Given the description of an element on the screen output the (x, y) to click on. 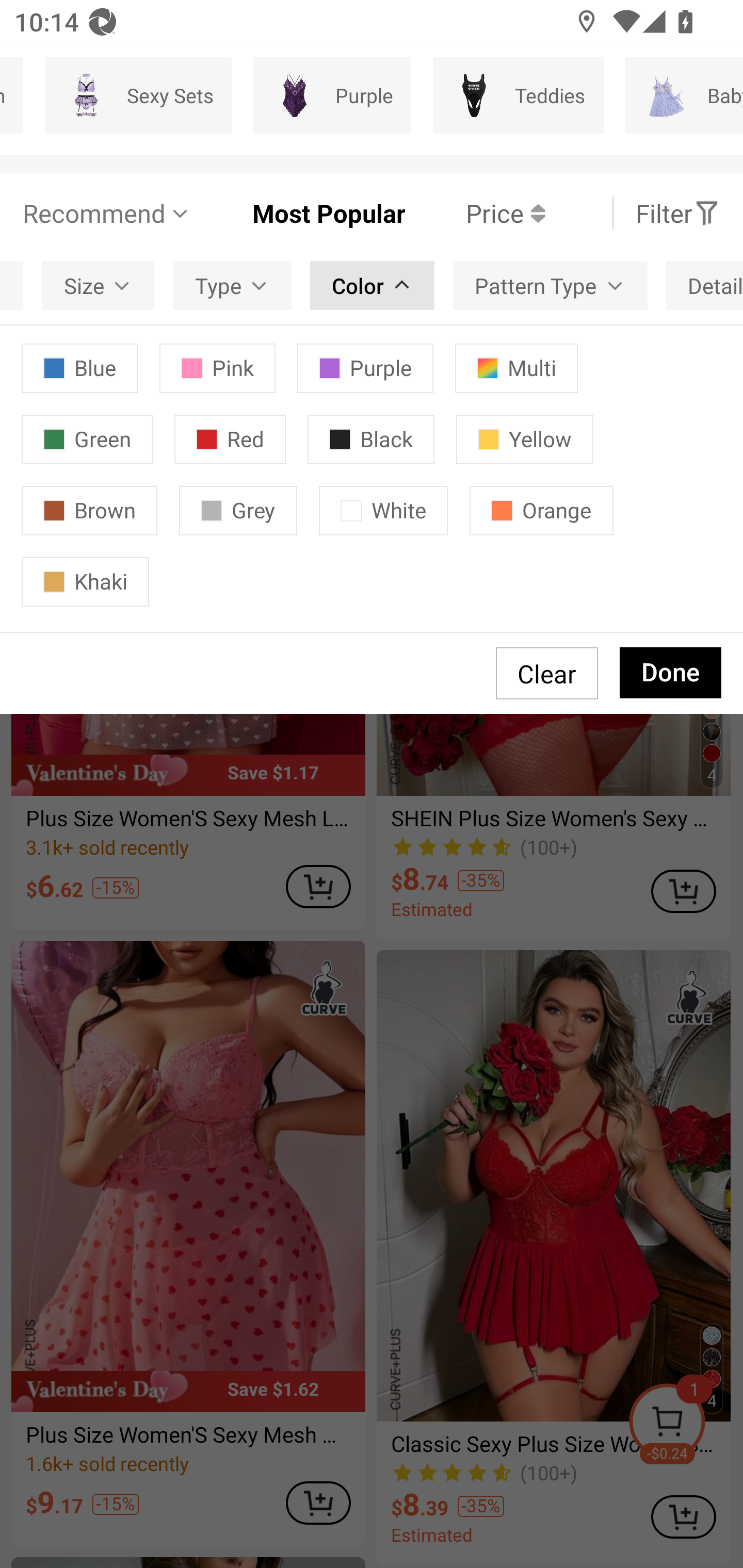
Sexy Sets (137, 95)
Purple (331, 95)
Teddies (518, 95)
Babydolls (684, 95)
Recommend (106, 213)
Most Popular (297, 213)
Price (474, 213)
Filter (677, 213)
Size (97, 285)
Type (232, 285)
Color (371, 285)
Pattern Type (550, 285)
Details (704, 285)
